Given the description of an element on the screen output the (x, y) to click on. 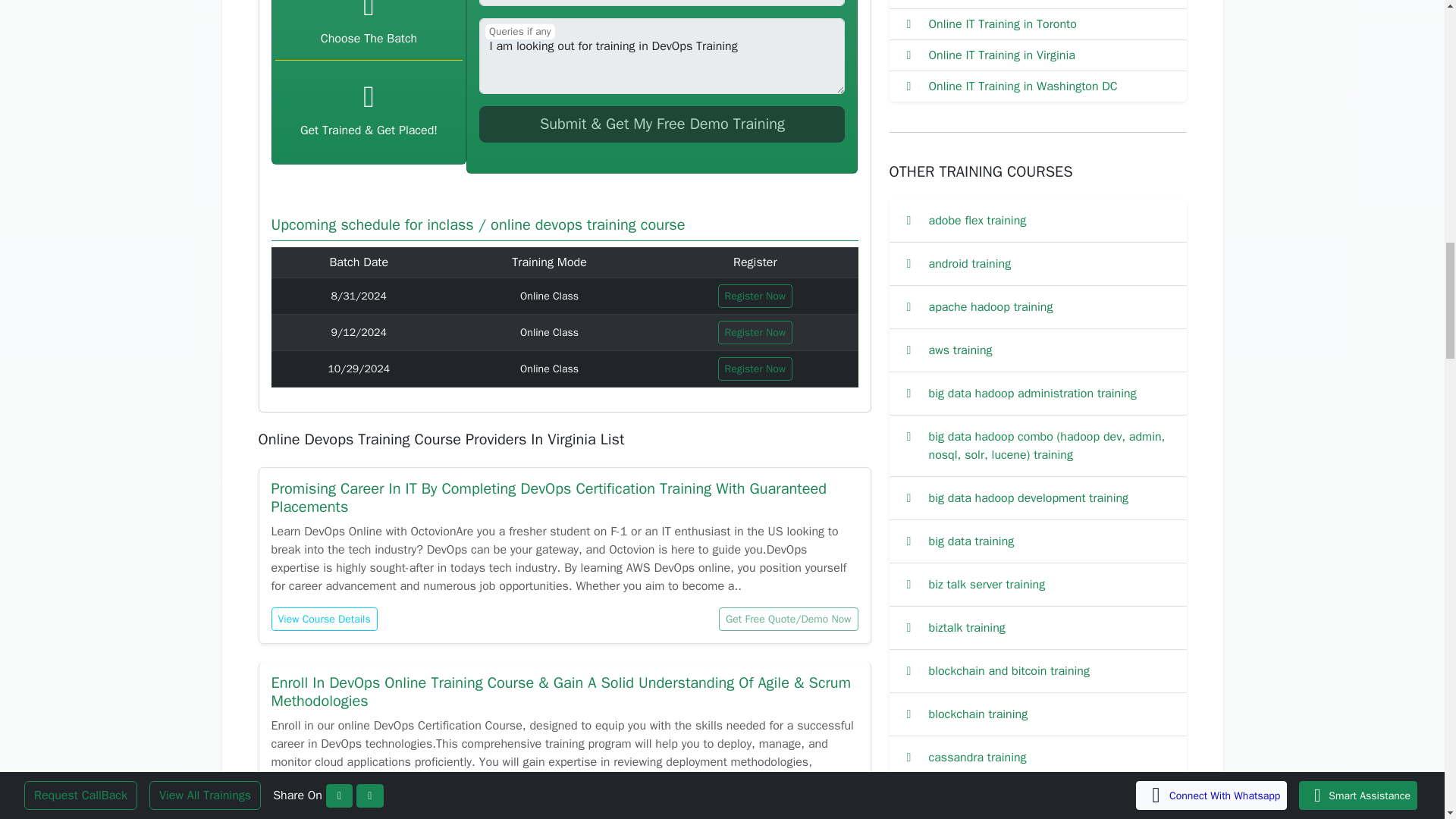
Register Now (755, 332)
Register Now (755, 368)
View Course Details (323, 618)
Register Now (755, 295)
Get DevOps Training Free Demo Video (661, 124)
